Given the description of an element on the screen output the (x, y) to click on. 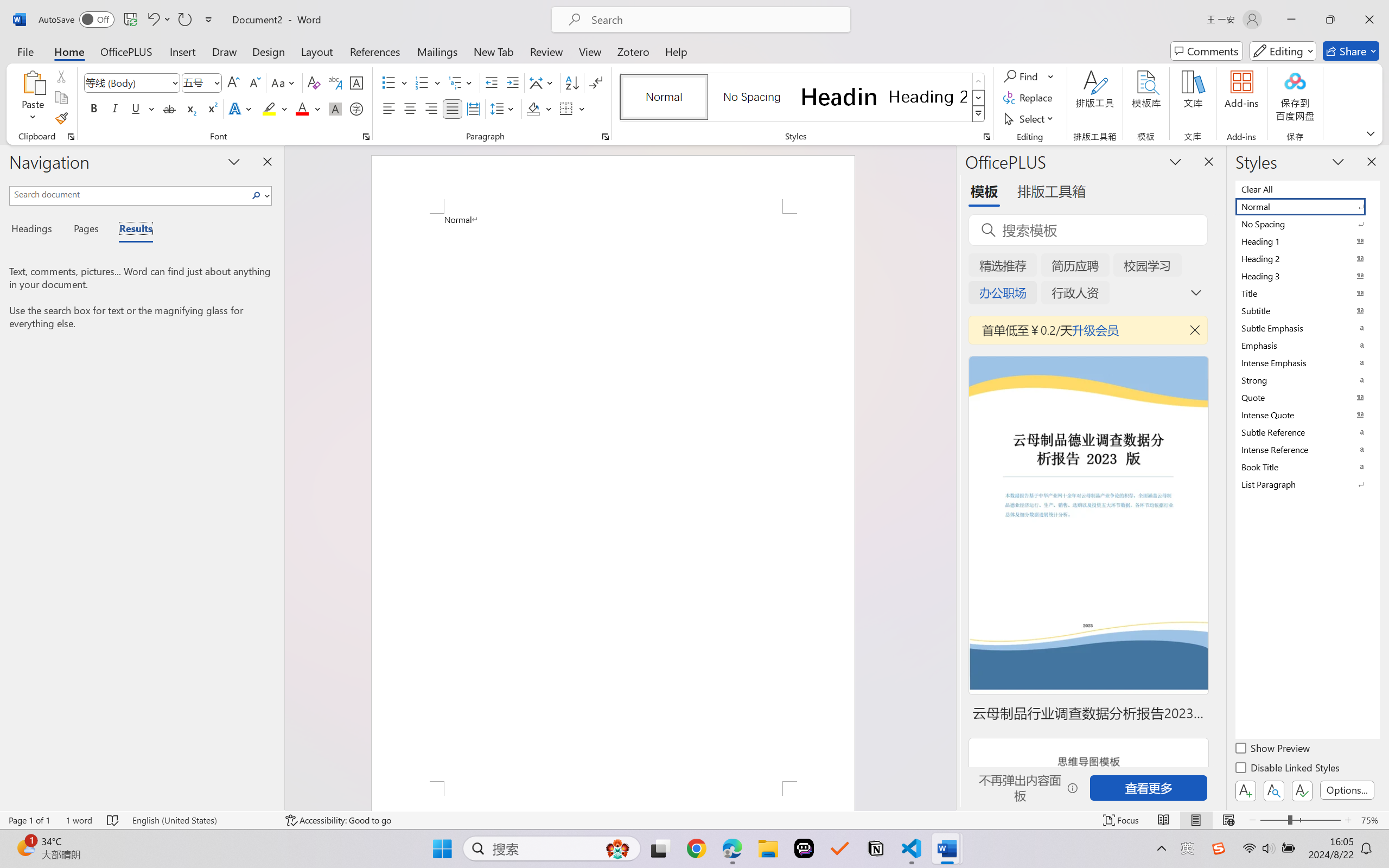
Layout (316, 51)
Disable Linked Styles (1287, 769)
Class: MsoCommandBar (694, 819)
Emphasis (1306, 345)
Language English (United States) (201, 819)
More Options (1051, 75)
Enclose Characters... (356, 108)
Class: NetUIScrollBar (948, 477)
Sort... (571, 82)
Shading (539, 108)
Underline (135, 108)
Zoom In (1348, 819)
Borders (571, 108)
Paste (33, 97)
